Given the description of an element on the screen output the (x, y) to click on. 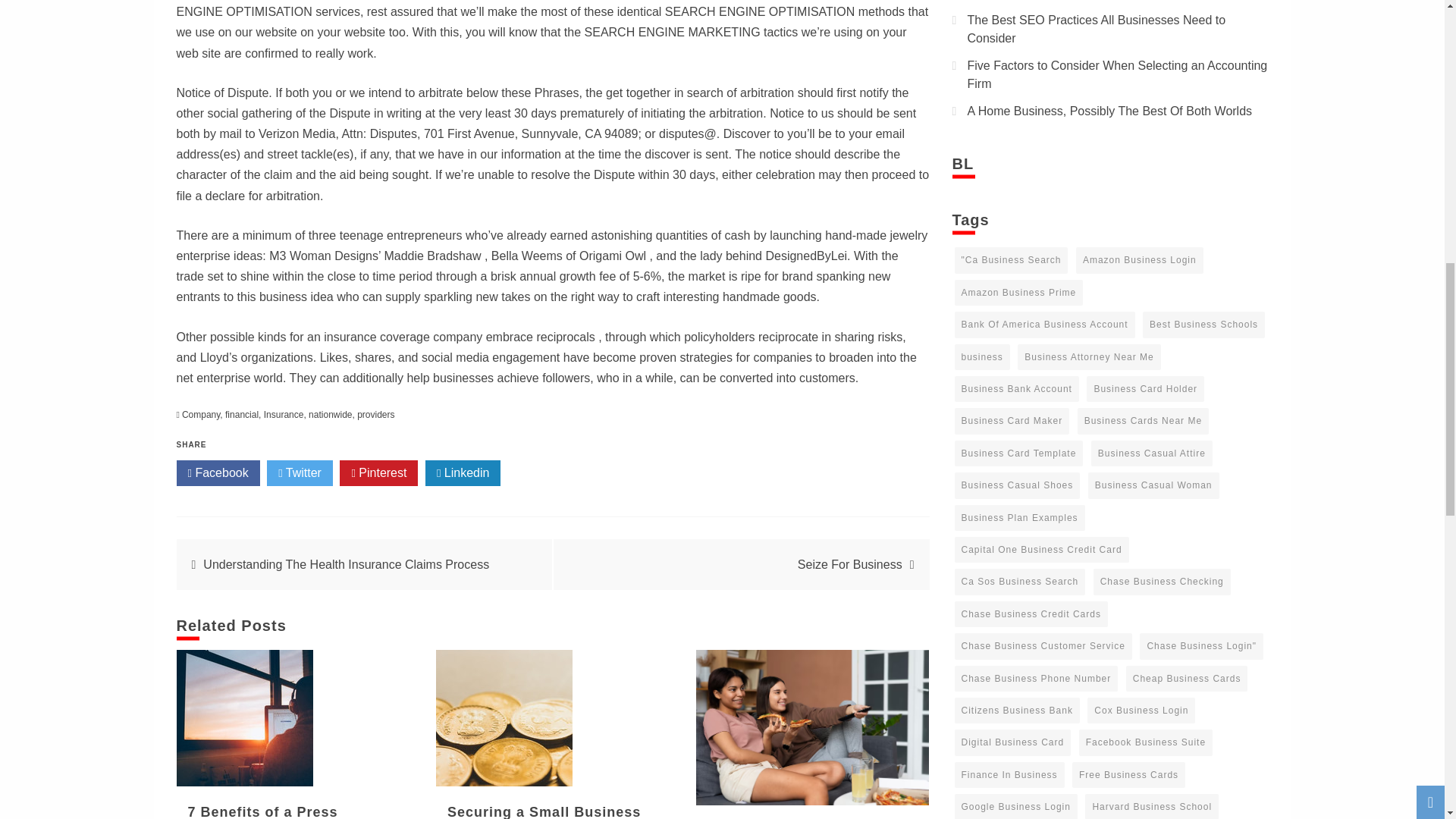
7 Benefits of a Press Release for Every Business (287, 811)
Twitter (299, 473)
Facebook (217, 473)
Company (200, 414)
Linkedin (462, 473)
Understanding The Health Insurance Claims Process (346, 563)
financial (242, 414)
Seize For Business (849, 563)
providers (375, 414)
Securing a Small Business Loan (503, 718)
Pinterest (378, 473)
Booming: Television News Channels in India (812, 727)
Insurance (283, 414)
nationwide (330, 414)
Securing a Small Business Loan (543, 811)
